Given the description of an element on the screen output the (x, y) to click on. 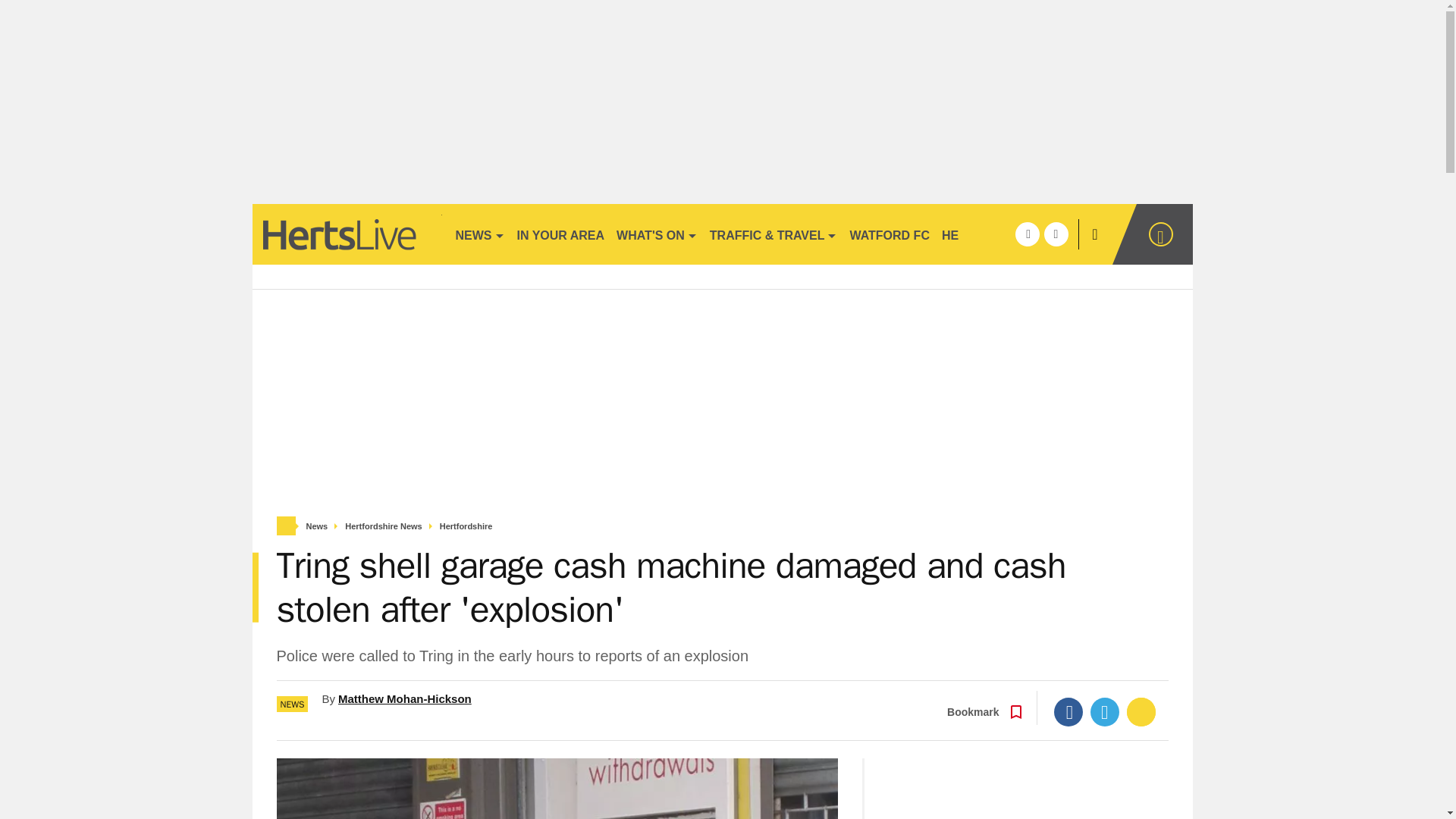
HEMEL HEMPSTEAD (1003, 233)
NEWS (479, 233)
WATFORD FC (888, 233)
hertfordshiremercury (346, 233)
twitter (1055, 233)
Facebook (1068, 711)
Twitter (1104, 711)
IN YOUR AREA (561, 233)
WHAT'S ON (656, 233)
facebook (1026, 233)
